Given the description of an element on the screen output the (x, y) to click on. 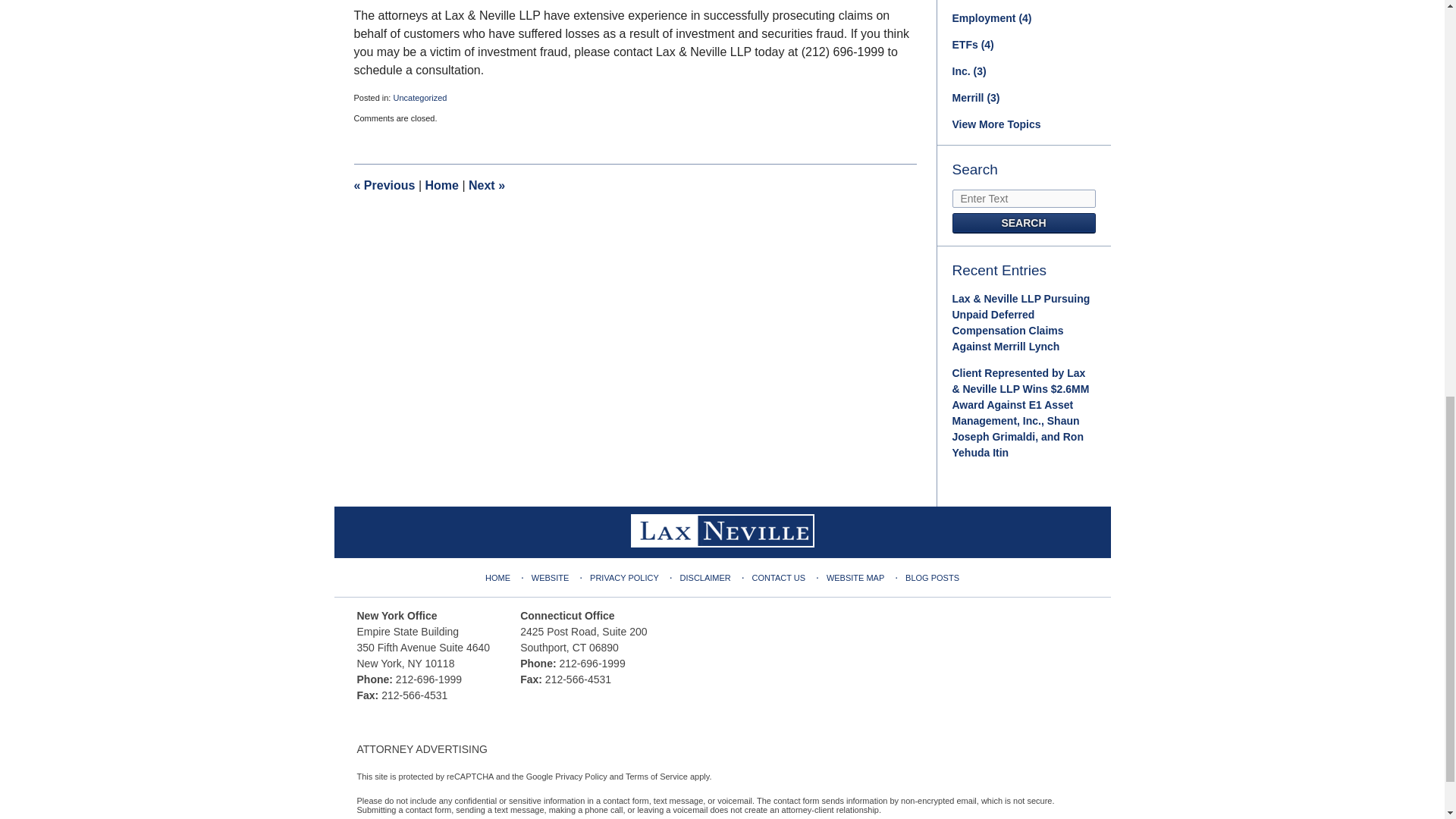
Home (441, 185)
Uncategorized (419, 97)
View all posts in Uncategorized (419, 97)
